Given the description of an element on the screen output the (x, y) to click on. 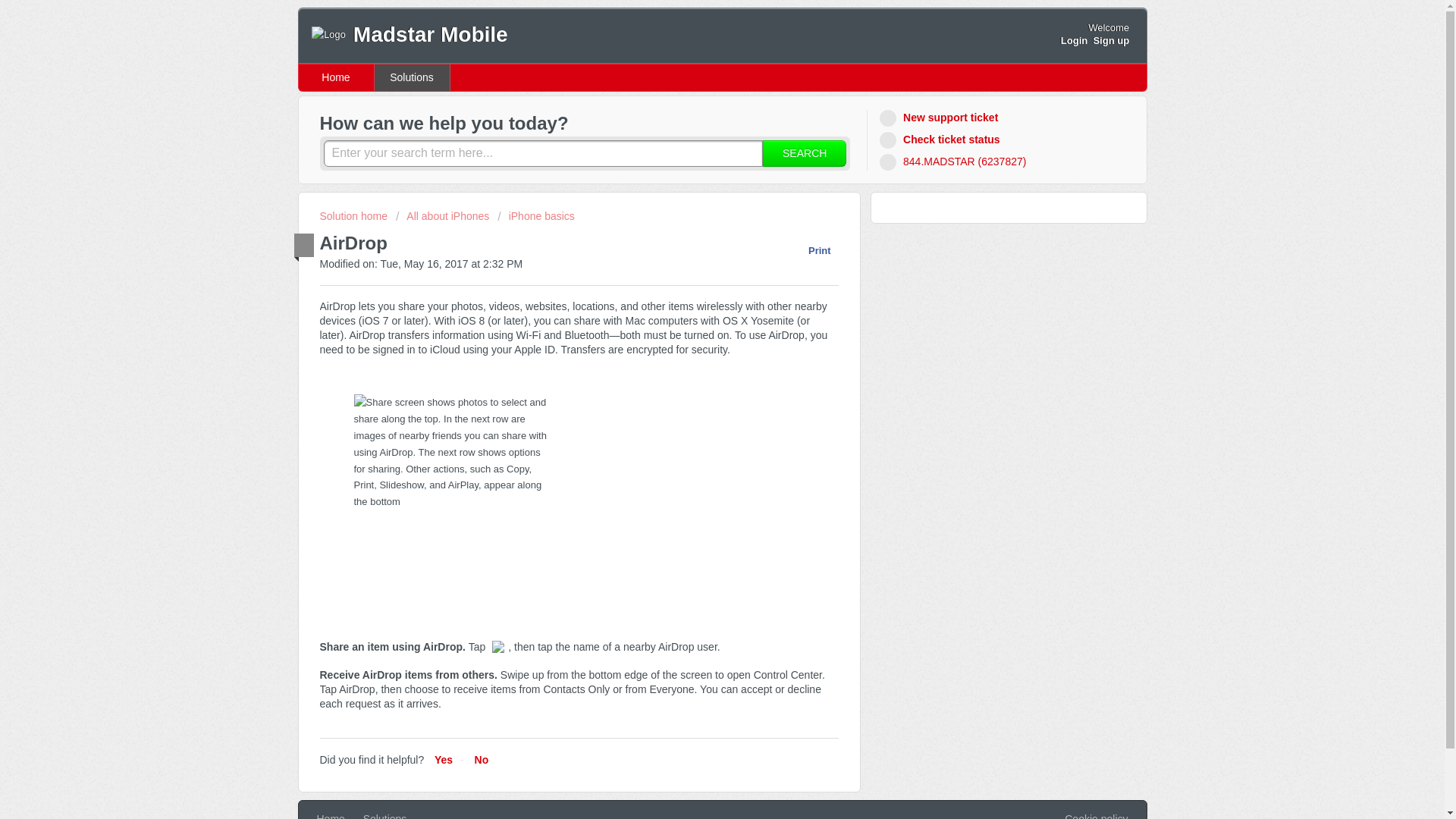
Cookie policy (1095, 815)
New support ticket (940, 117)
Solutions (384, 816)
New support ticket (940, 117)
Why we love Cookies (1095, 815)
Sign up (1111, 40)
Login (1074, 40)
Home (336, 77)
Solution home (355, 215)
All about iPhones (442, 215)
iPhone basics (536, 215)
Print (812, 250)
Solutions (411, 77)
Check ticket status (941, 139)
SEARCH (803, 153)
